Given the description of an element on the screen output the (x, y) to click on. 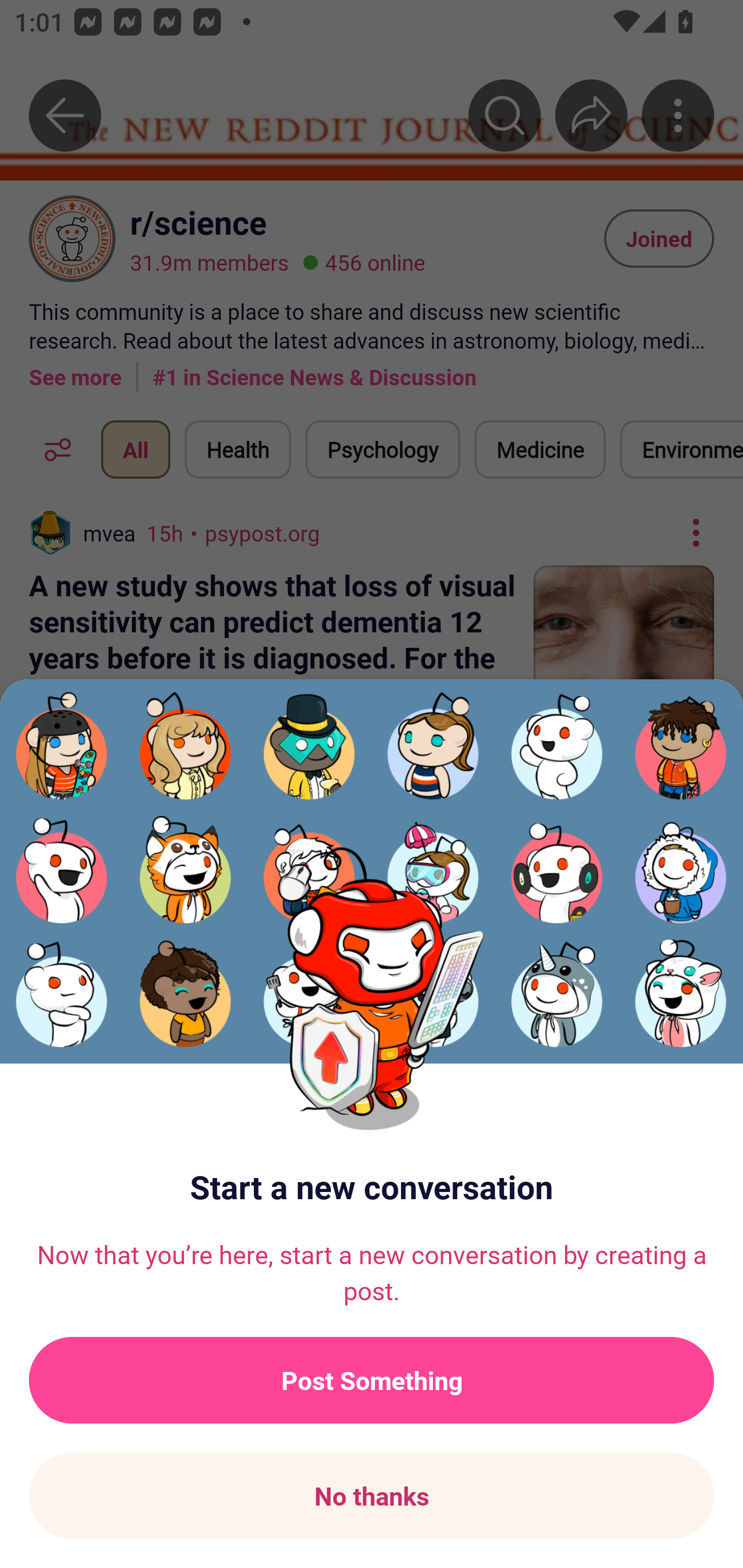
Post Something (371, 1380)
No thanks (371, 1495)
